Given the description of an element on the screen output the (x, y) to click on. 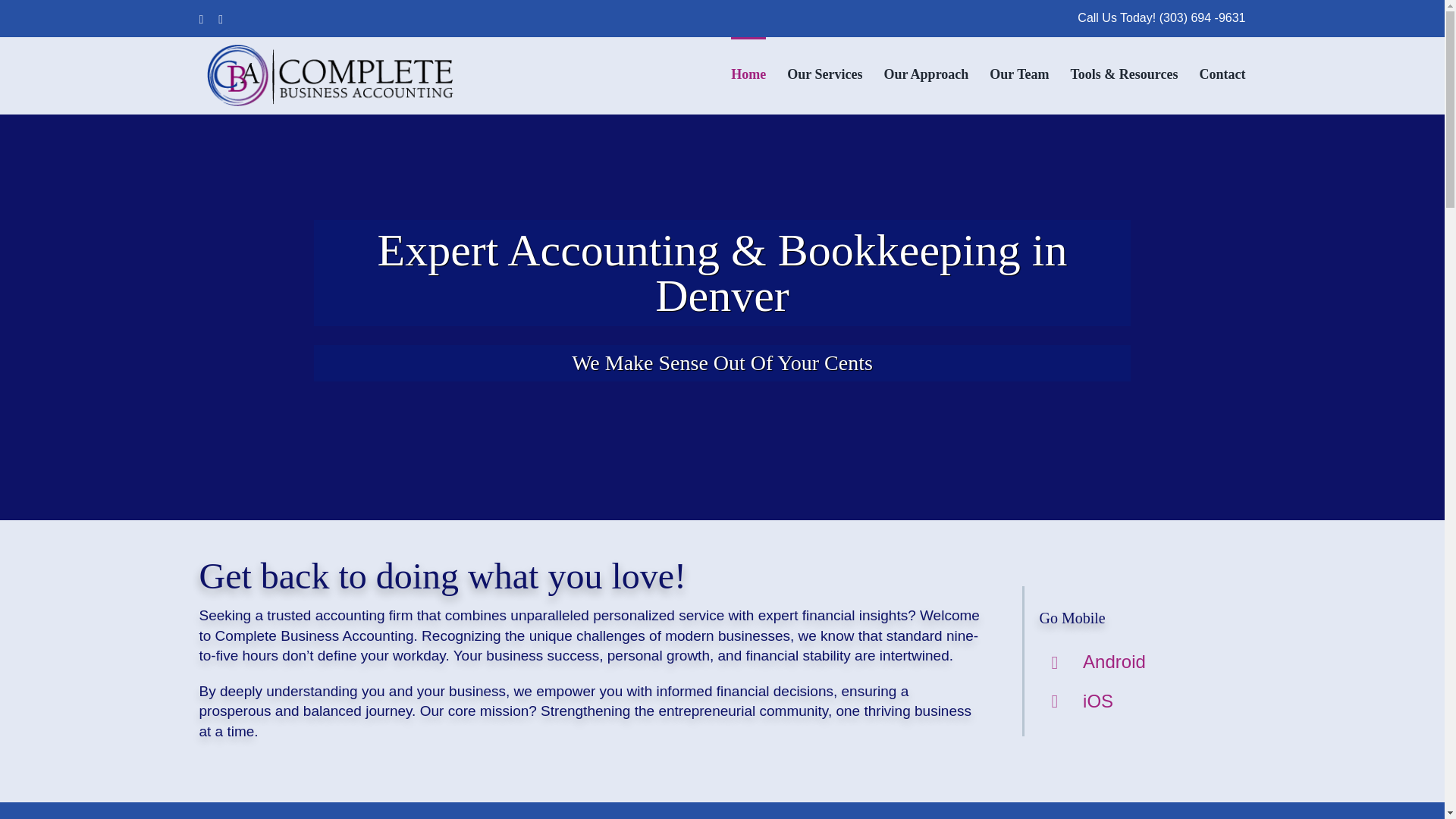
Our Approach (925, 72)
Android (1114, 661)
Our Services (824, 72)
iOS (1098, 701)
